Given the description of an element on the screen output the (x, y) to click on. 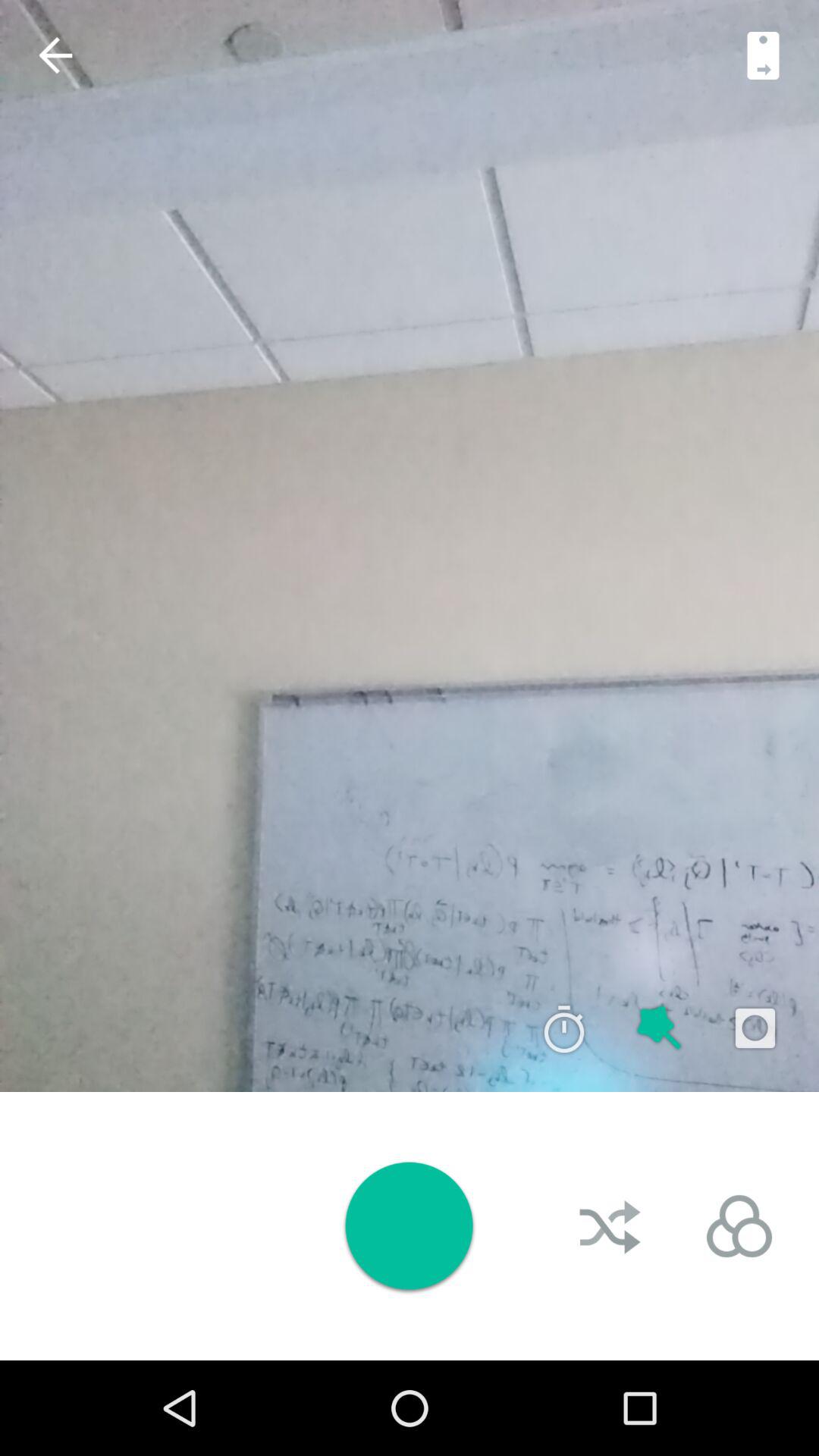
add auto image filter adjustments (659, 1028)
